Given the description of an element on the screen output the (x, y) to click on. 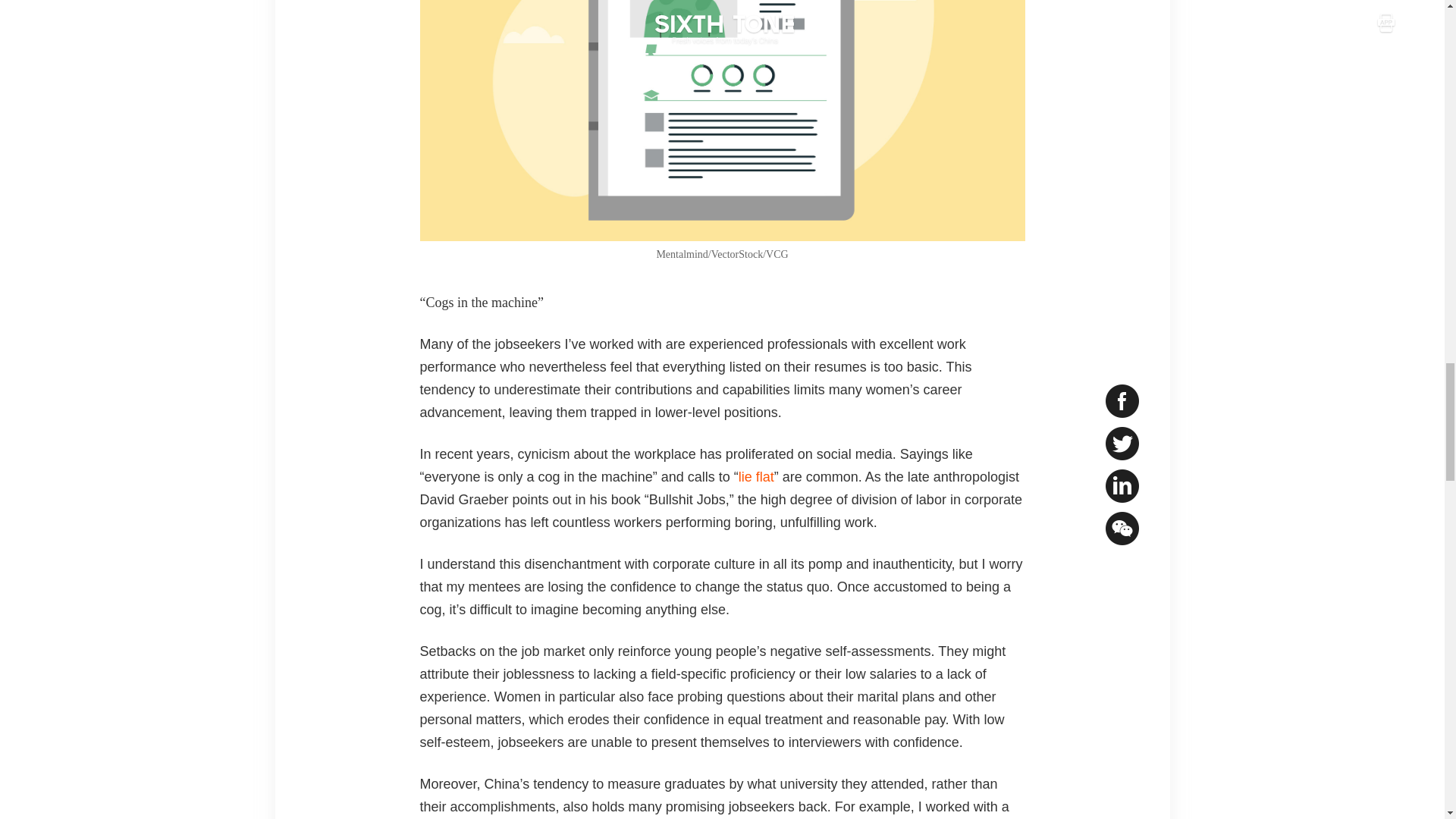
lie flat (756, 476)
